Given the description of an element on the screen output the (x, y) to click on. 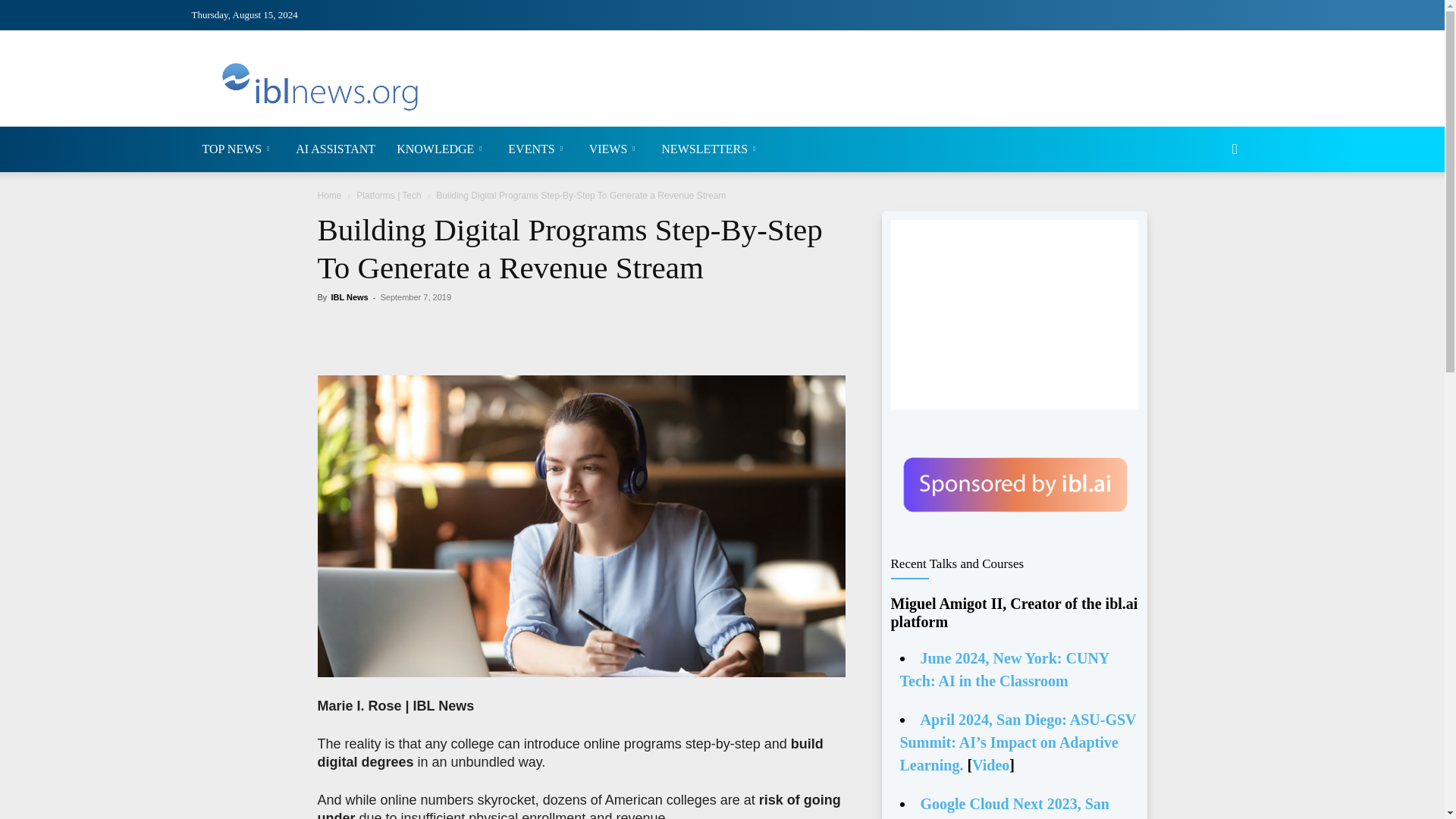
KNOWLEDGE (441, 148)
TOP NEWS (237, 148)
AI ASSISTANT (335, 148)
